Given the description of an element on the screen output the (x, y) to click on. 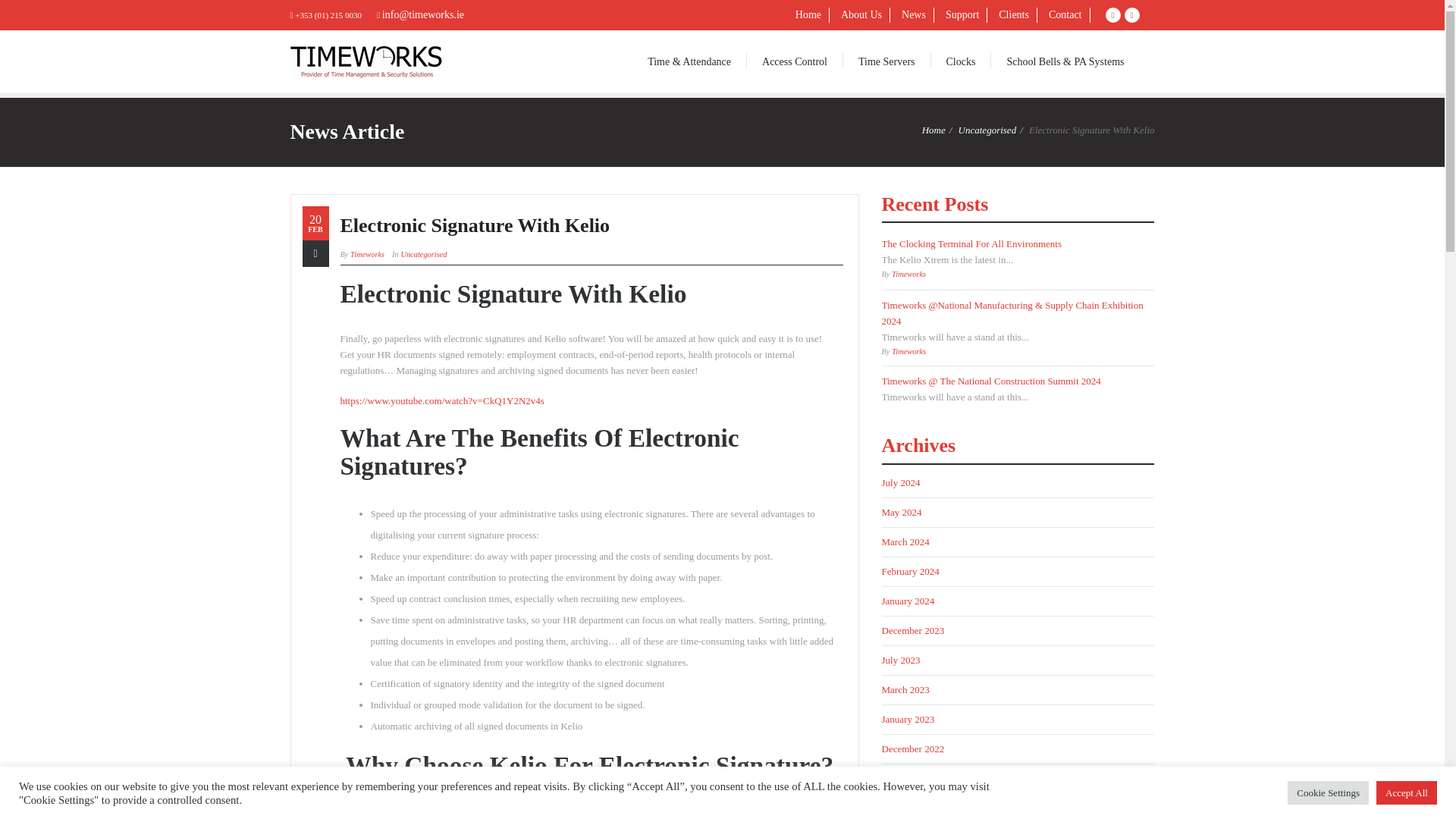
Contact (1065, 14)
Home (808, 14)
Home (808, 14)
Clients (1013, 14)
About Us (860, 14)
Home (932, 129)
News (913, 14)
Timeworks (367, 254)
Time Servers (886, 61)
Uncategorised (987, 129)
